Given the description of an element on the screen output the (x, y) to click on. 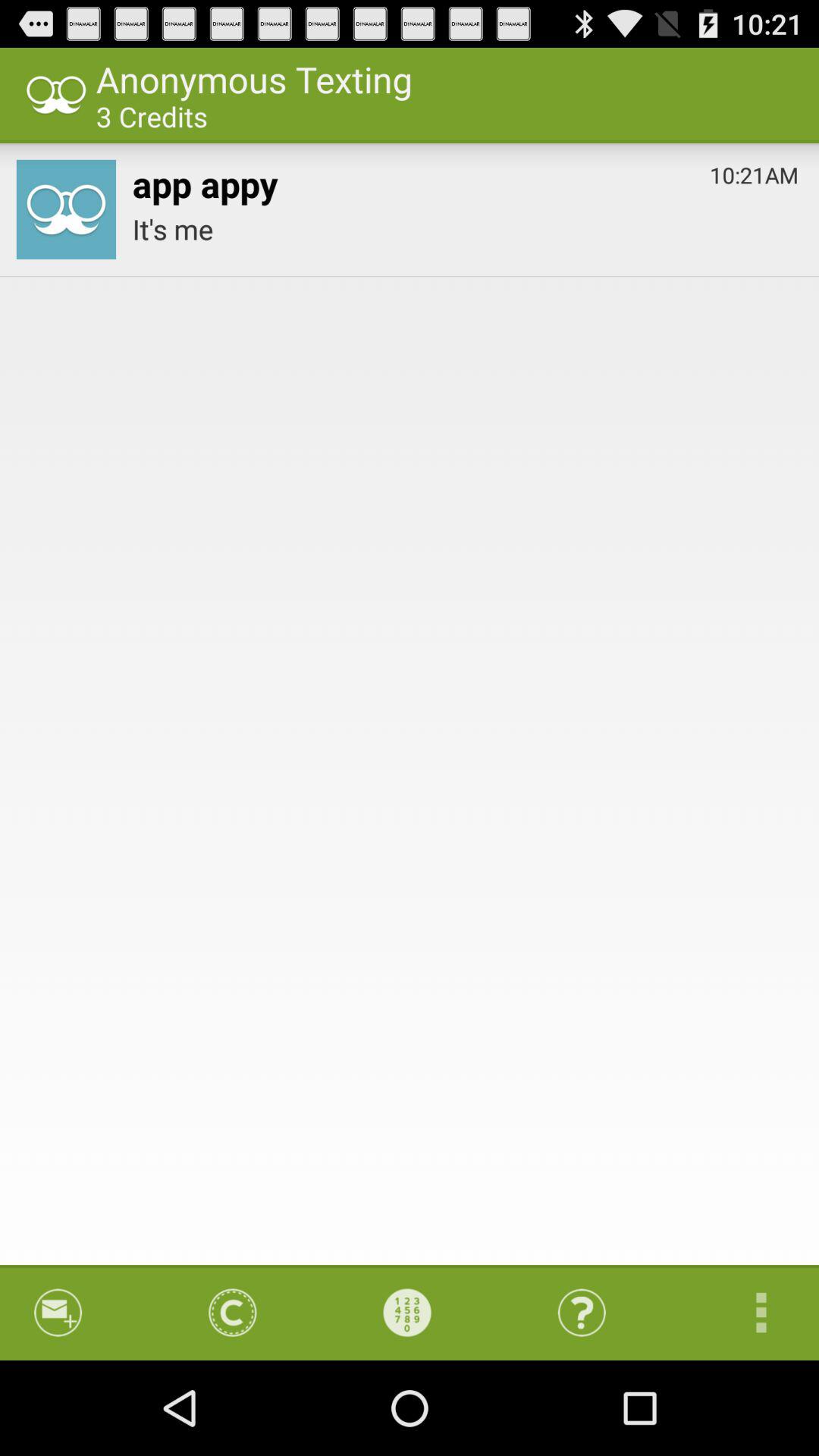
turn on app above the it's me icon (753, 171)
